Given the description of an element on the screen output the (x, y) to click on. 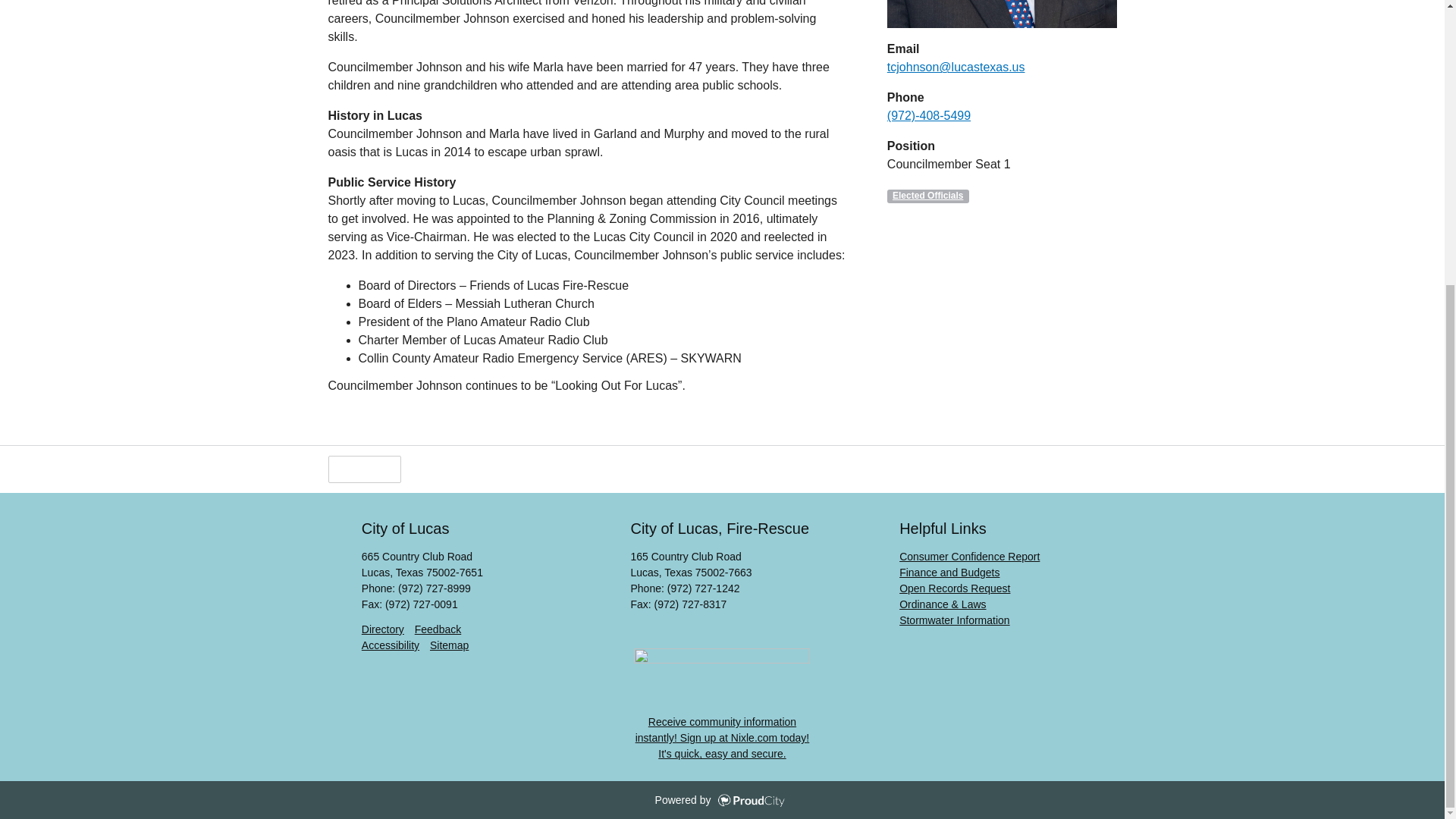
Stormwater Information (954, 620)
Elected Officials (927, 196)
Accessibility (390, 645)
Helpful (364, 469)
Share (436, 469)
Directory (382, 629)
Sitemap (448, 645)
Consumer Confidence Report (969, 556)
This page makes me proud (364, 469)
Feedback (437, 629)
